Given the description of an element on the screen output the (x, y) to click on. 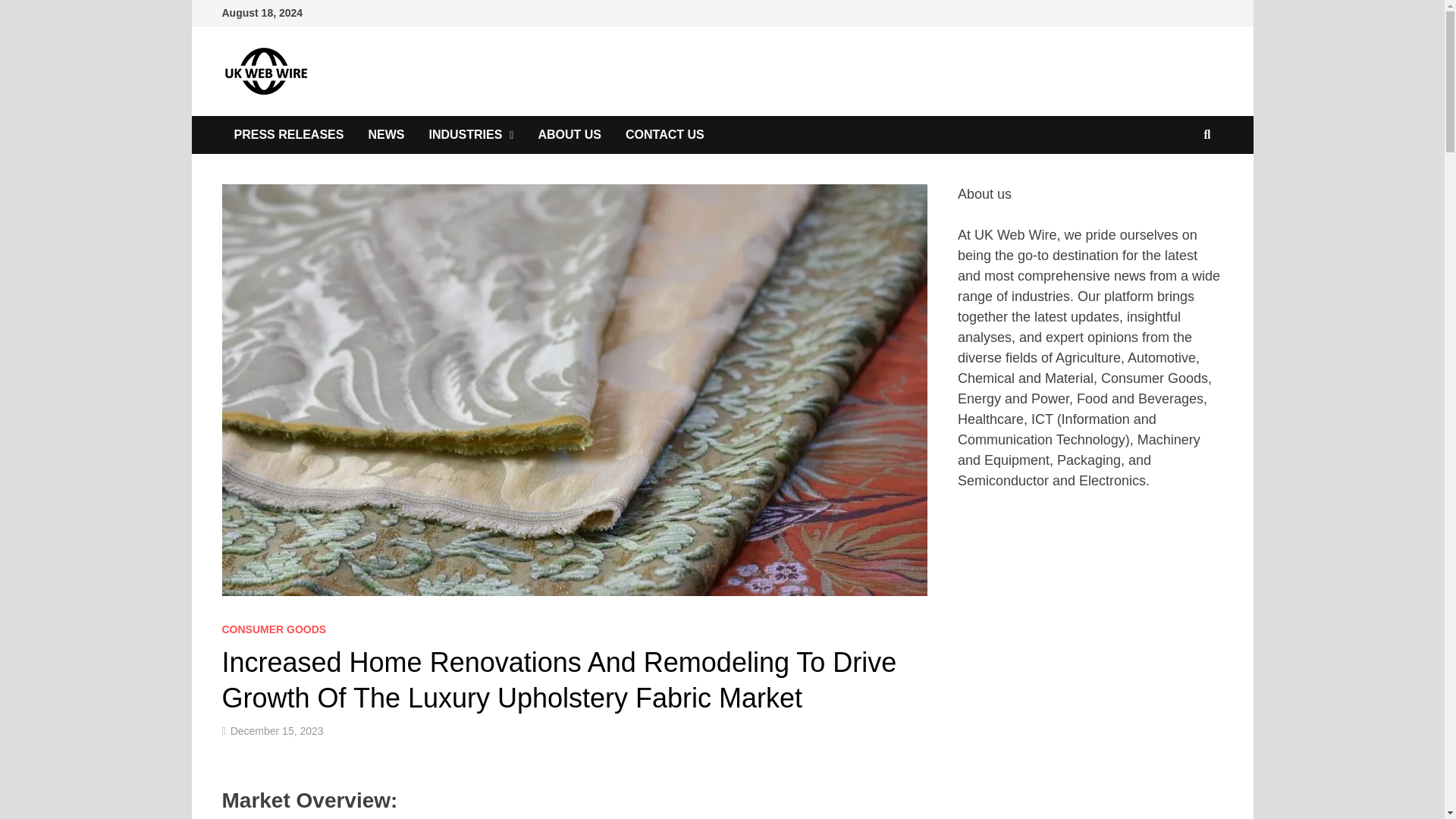
INDUSTRIES (470, 134)
CONTACT US (664, 134)
PRESS RELEASES (288, 134)
CONSUMER GOODS (273, 629)
ABOUT US (568, 134)
NEWS (385, 134)
